Given the description of an element on the screen output the (x, y) to click on. 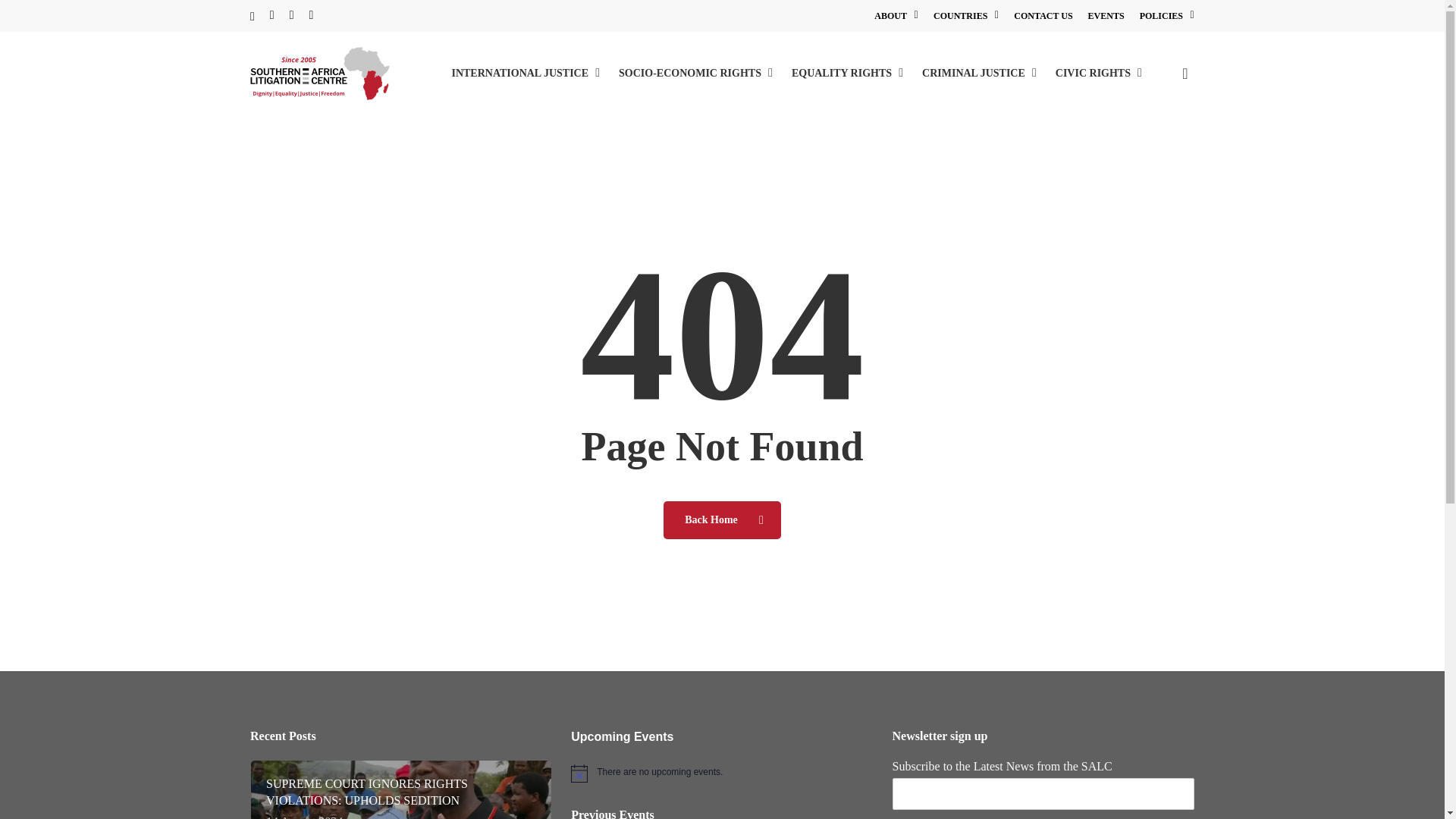
ABOUT (896, 15)
INTERNATIONAL JUSTICE (527, 73)
POLICIES (1166, 15)
EVENTS (1105, 15)
CONTACT US (1042, 15)
COUNTRIES (965, 15)
